Given the description of an element on the screen output the (x, y) to click on. 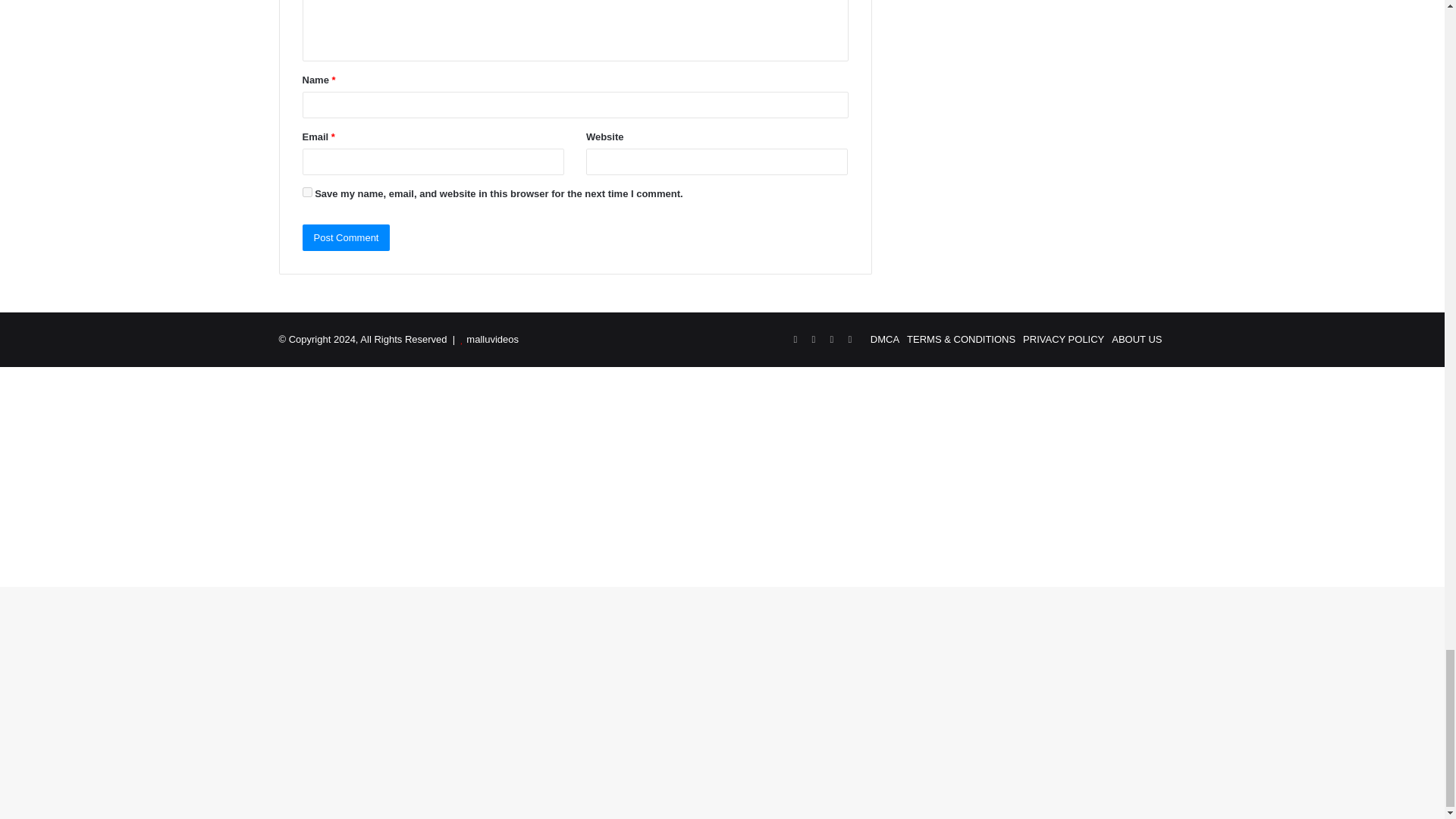
yes (306, 192)
Post Comment (345, 236)
